Given the description of an element on the screen output the (x, y) to click on. 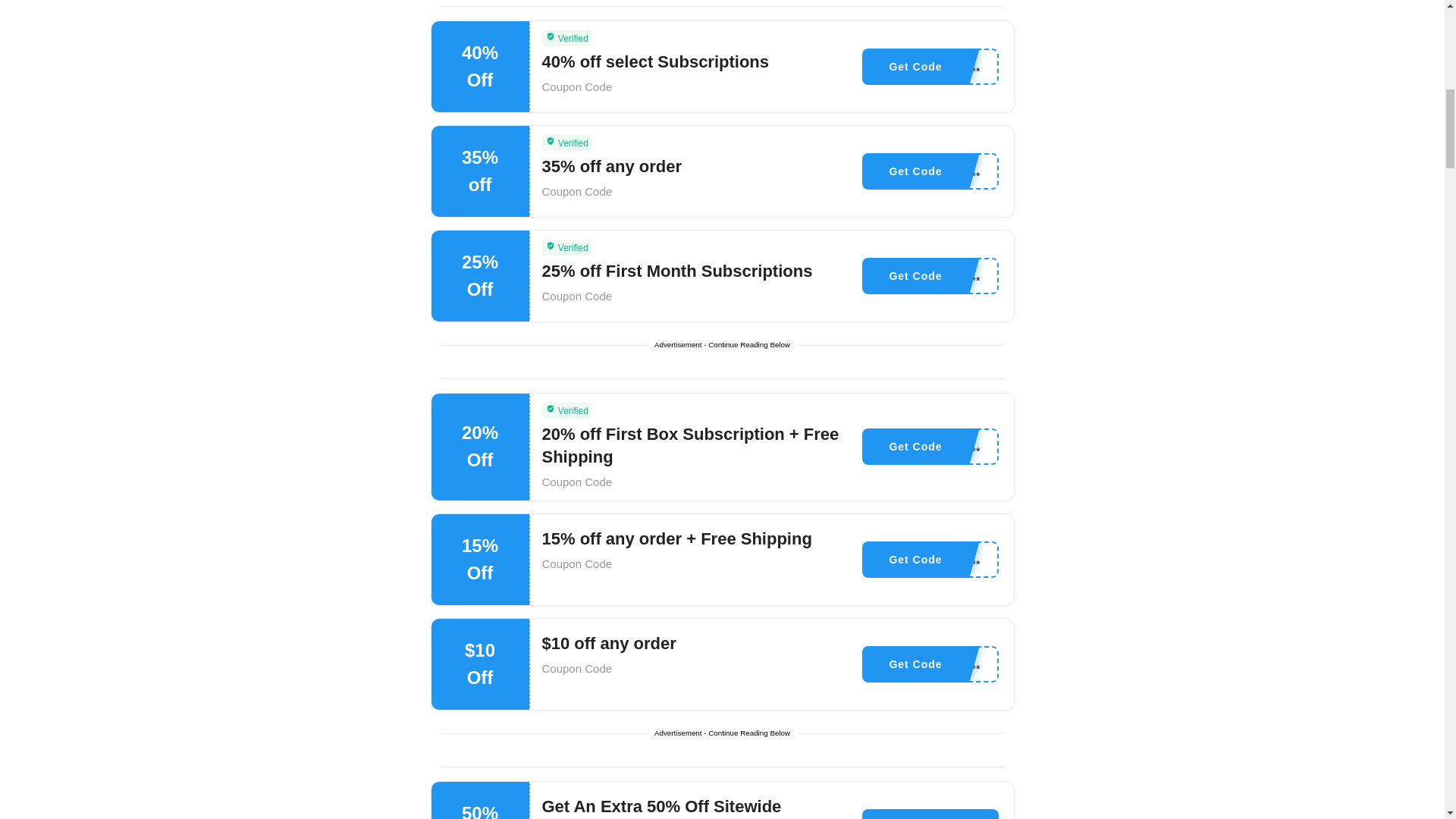
Coupon Code (576, 295)
Coupon Code (576, 86)
Coupon Code (576, 191)
Coupon Code (576, 481)
Coupon Code (576, 563)
